Given the description of an element on the screen output the (x, y) to click on. 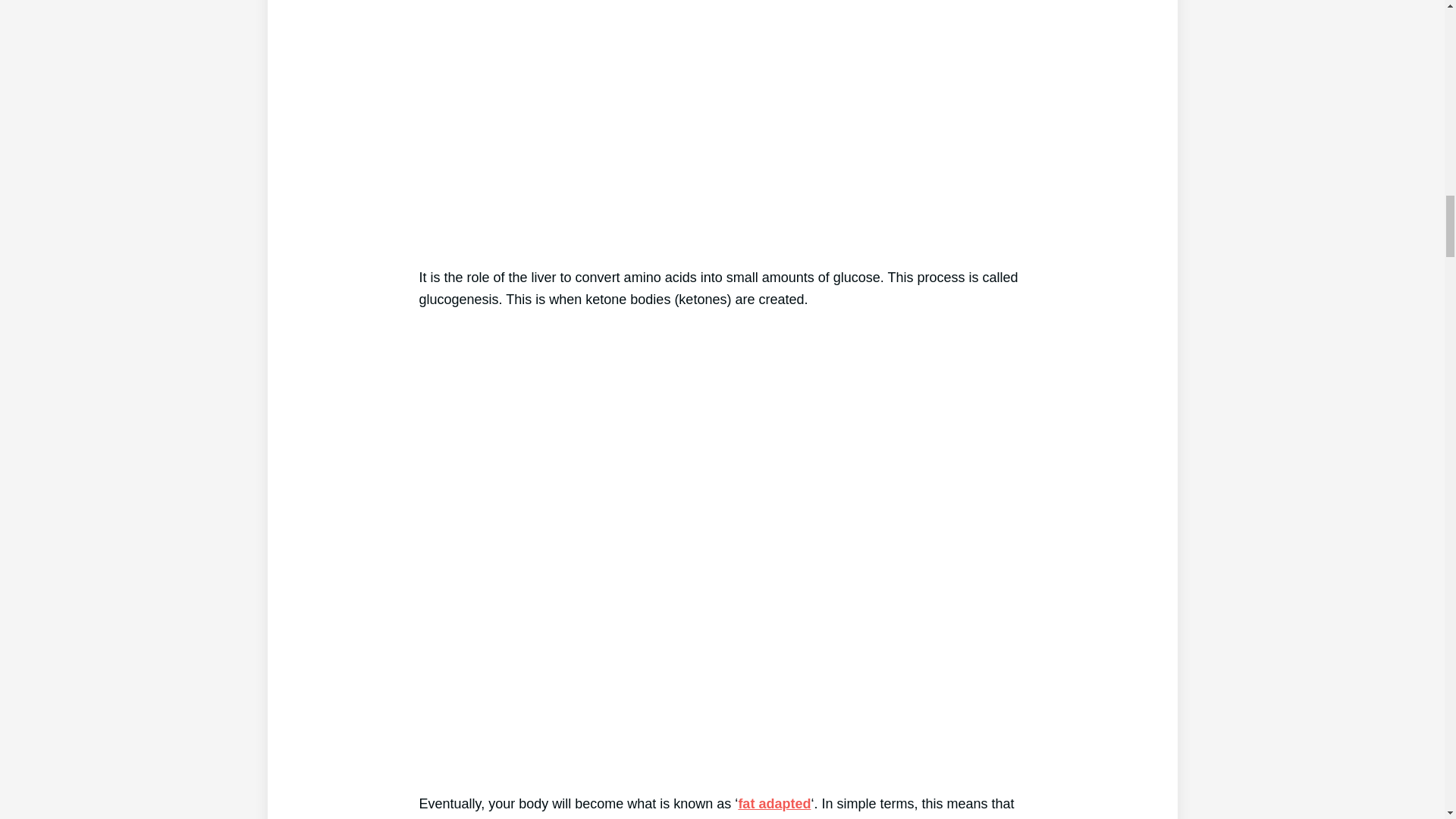
fat adapted (774, 803)
